Given the description of an element on the screen output the (x, y) to click on. 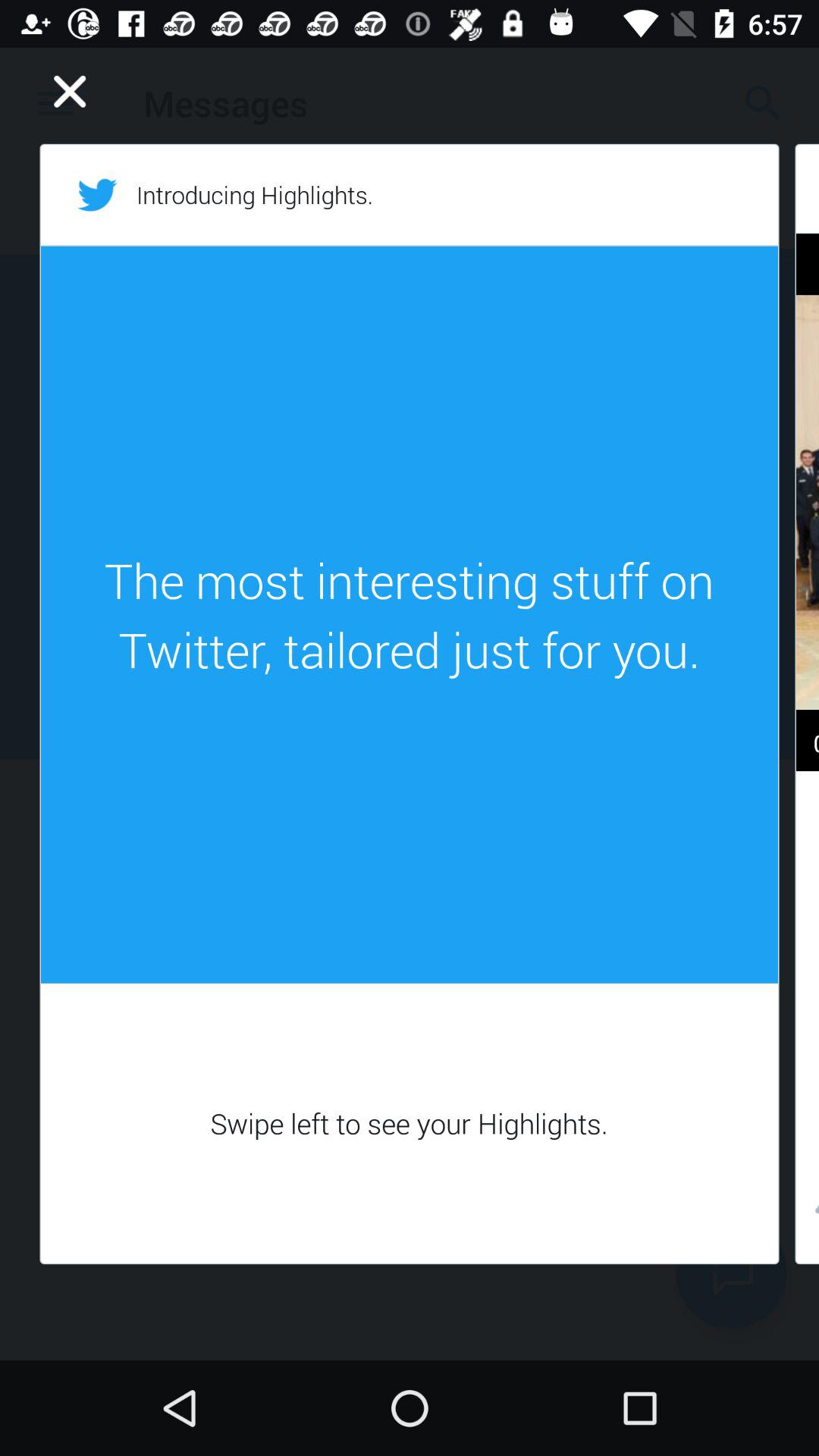
open the item below the 0:49 (807, 1213)
